Given the description of an element on the screen output the (x, y) to click on. 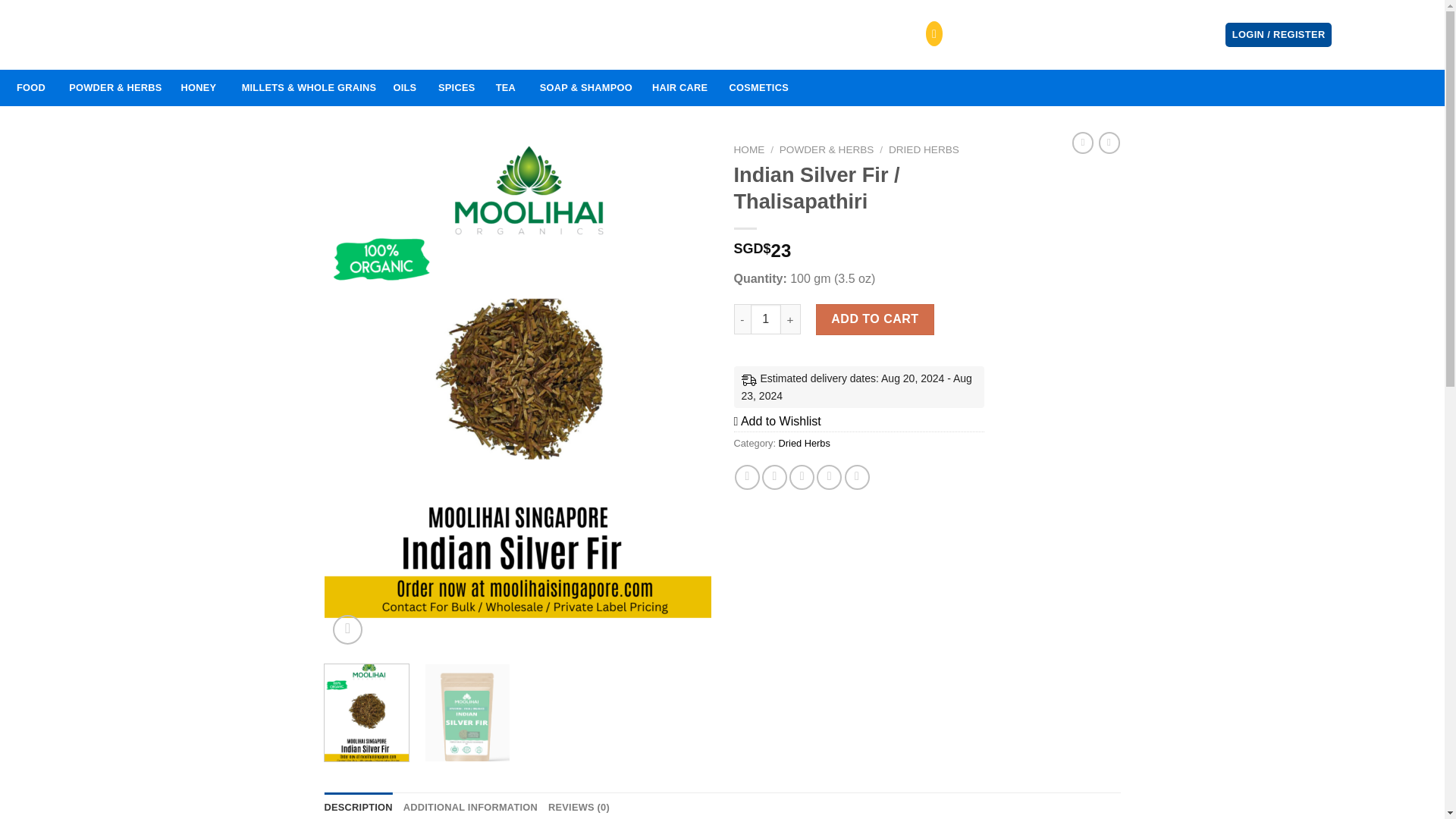
Share on Twitter (774, 477)
DRIED HERBS (923, 149)
Share on Facebook (747, 477)
HAIR CARE (680, 87)
Zoom (347, 629)
Share on LinkedIn (856, 477)
Cart (1390, 34)
Track Order (338, 34)
SPICES (456, 87)
Add to Wishlist (777, 420)
